Given the description of an element on the screen output the (x, y) to click on. 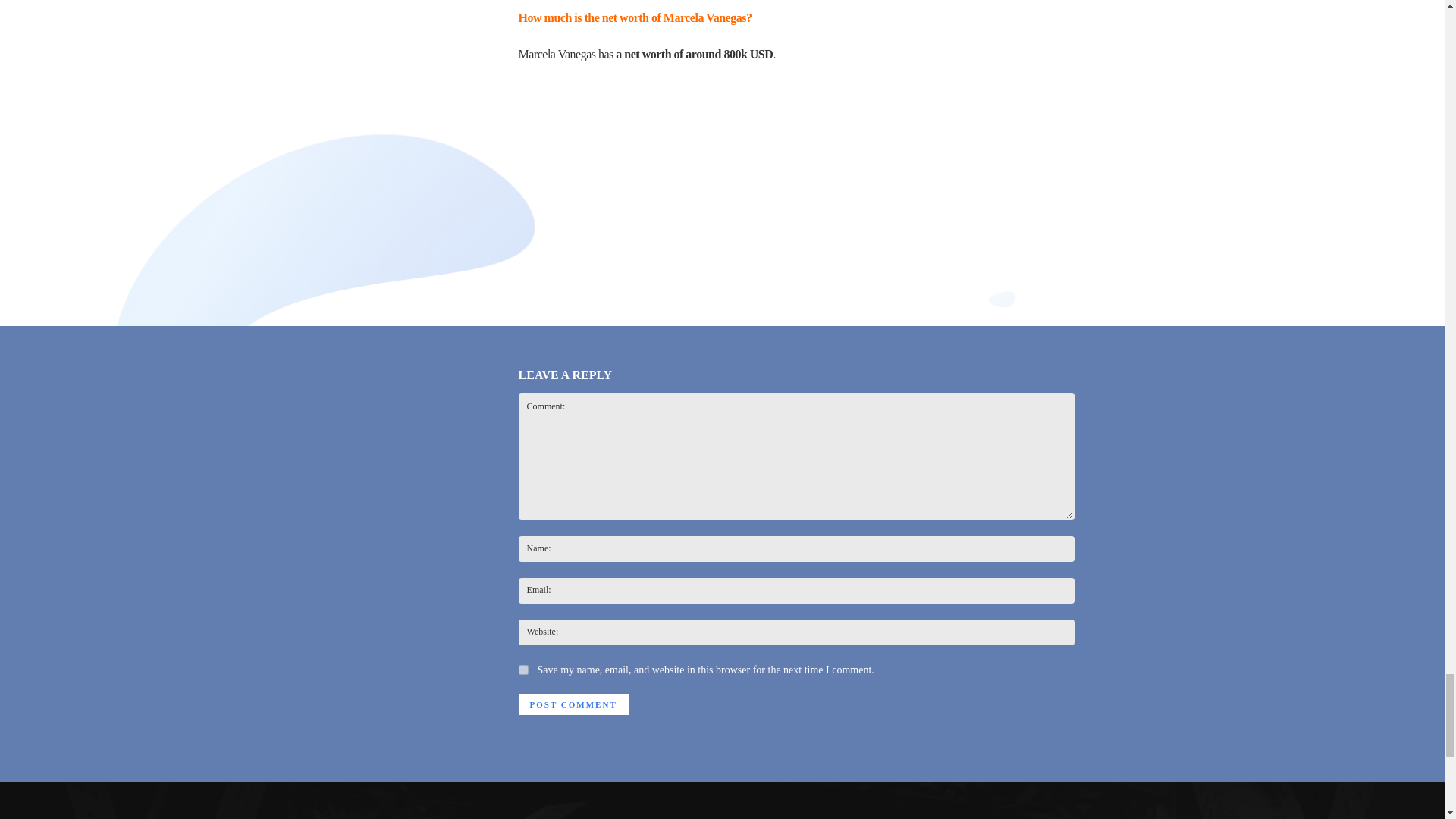
Post Comment (573, 703)
yes (523, 669)
